Given the description of an element on the screen output the (x, y) to click on. 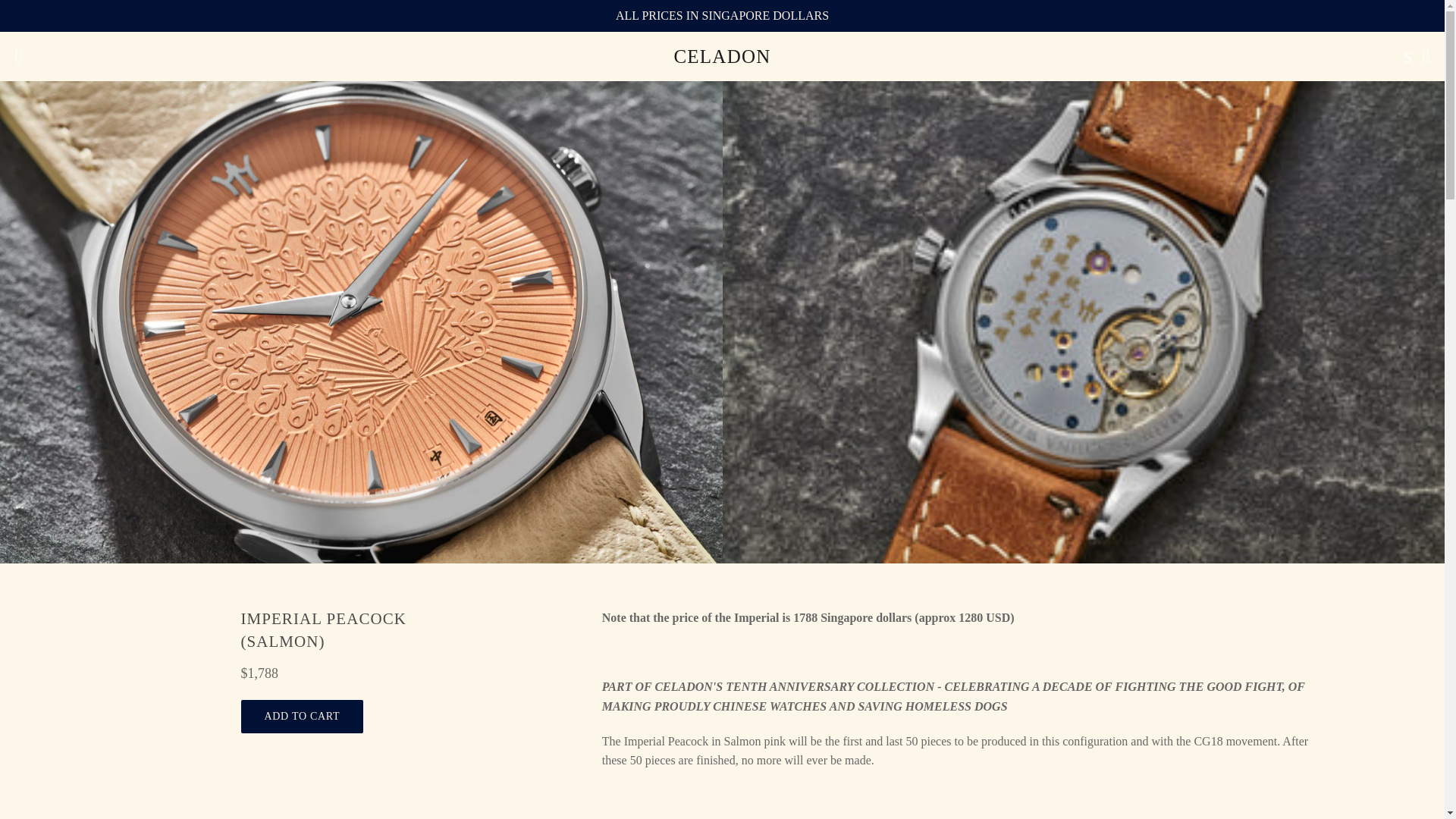
ADD TO CART (302, 716)
CELADON (722, 56)
